Given the description of an element on the screen output the (x, y) to click on. 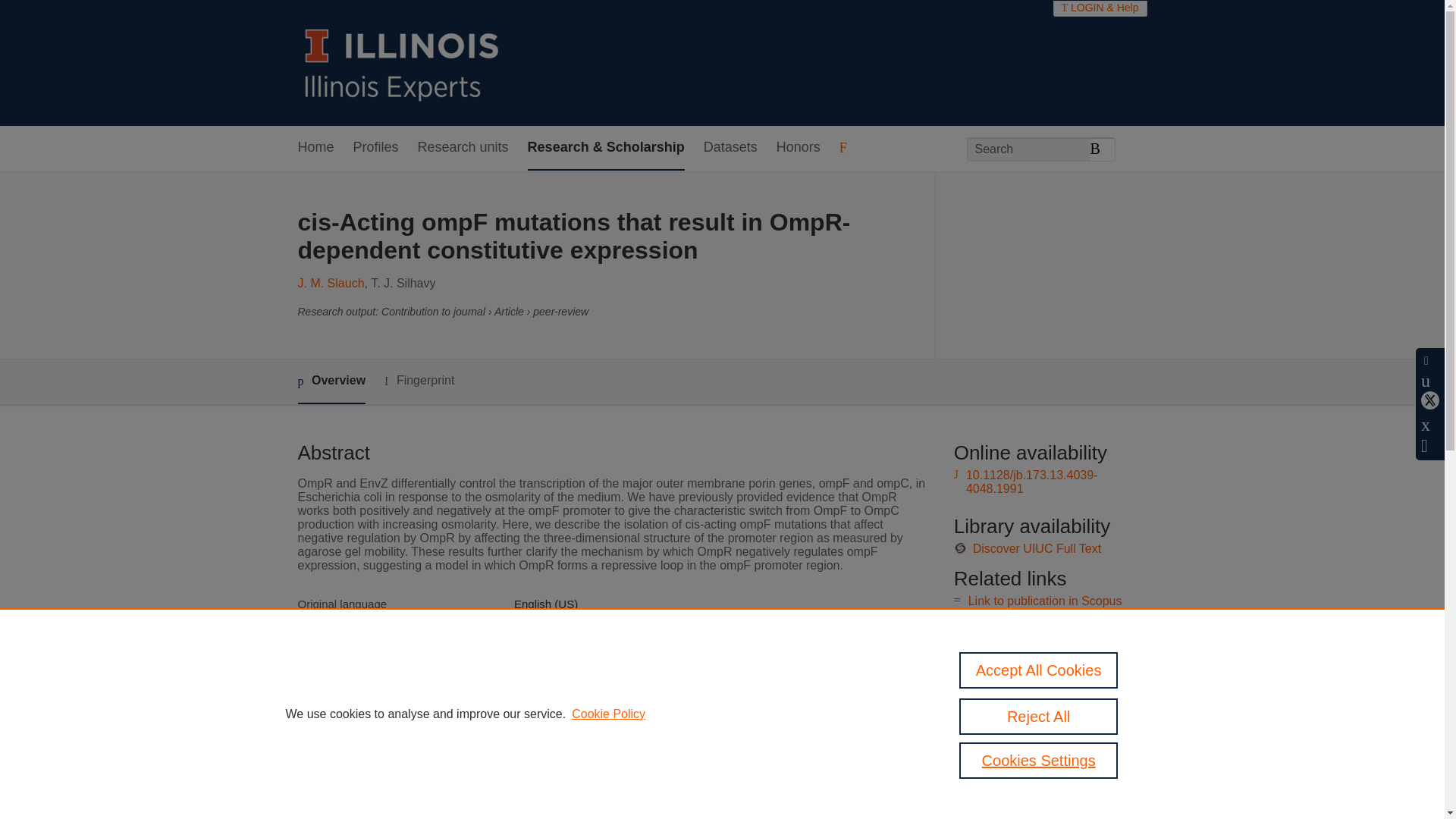
Link to publication in Scopus (1045, 600)
Discover UIUC Full Text (1037, 548)
Honors (798, 148)
Profiles (375, 148)
Overview (331, 381)
University of Illinois Urbana-Champaign Home (402, 62)
Research units (462, 148)
Journal of bacteriology (570, 656)
Datasets (730, 148)
